Given the description of an element on the screen output the (x, y) to click on. 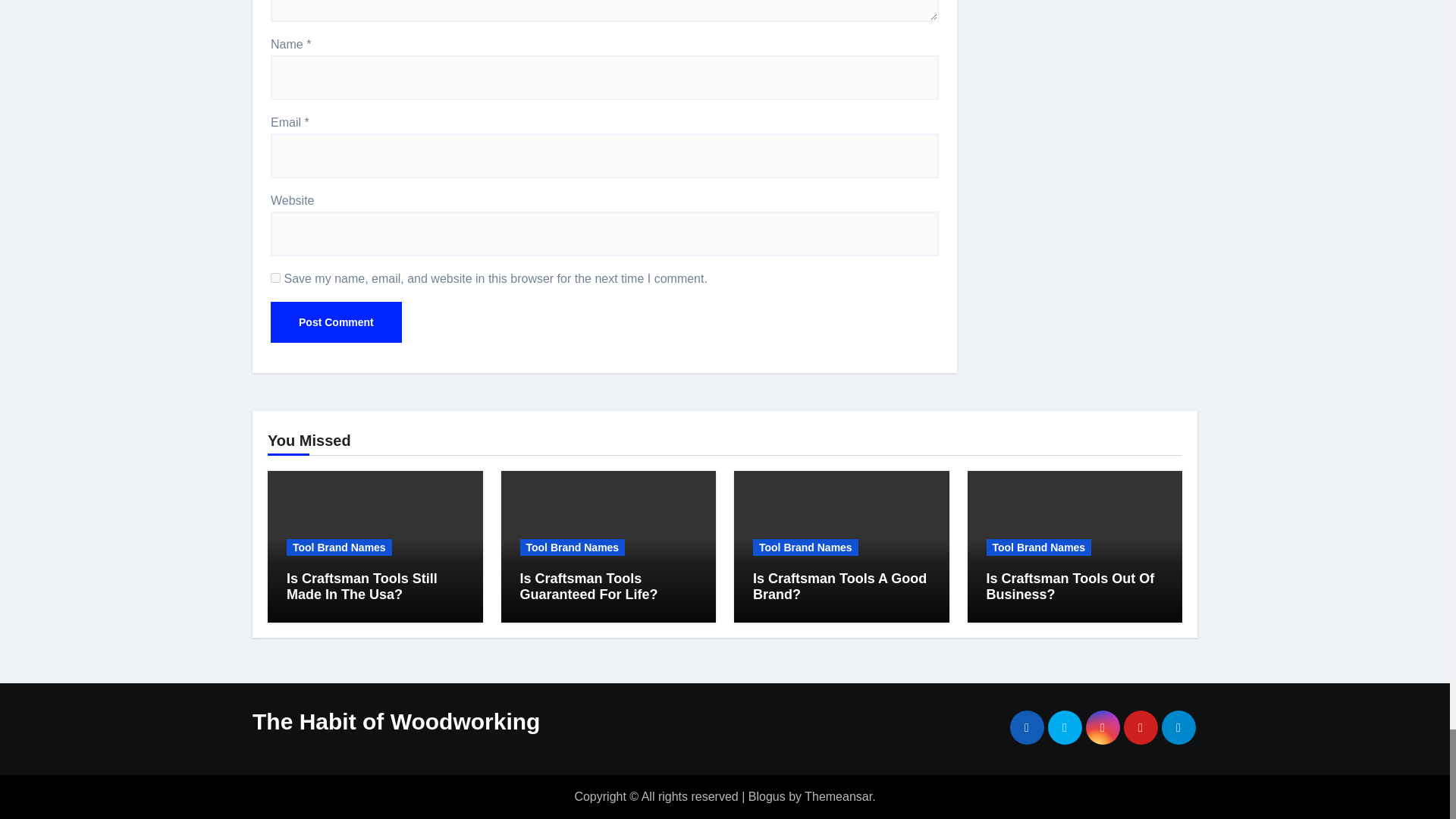
Permalink to: Is Craftsman Tools Out Of Business? (1069, 586)
Post Comment (335, 322)
Permalink to: Is Craftsman Tools Still Made In The Usa? (362, 586)
Permalink to: Is Craftsman Tools A Good Brand? (839, 586)
Permalink to: Is Craftsman Tools Guaranteed For Life? (588, 586)
yes (275, 276)
